Given the description of an element on the screen output the (x, y) to click on. 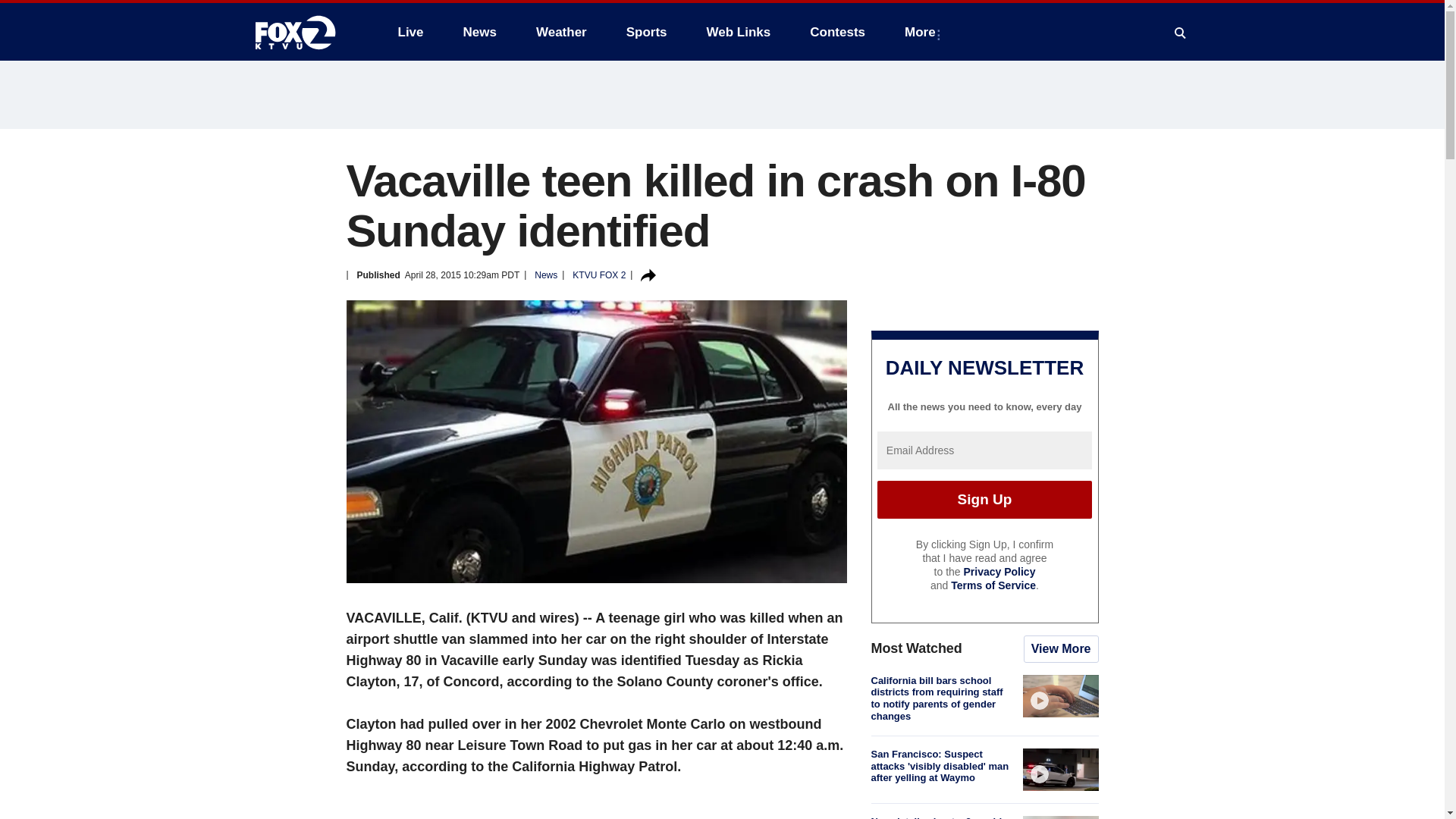
Sign Up (984, 499)
Weather (561, 32)
Sports (646, 32)
More (922, 32)
Contests (837, 32)
Live (410, 32)
News (479, 32)
Web Links (738, 32)
